Given the description of an element on the screen output the (x, y) to click on. 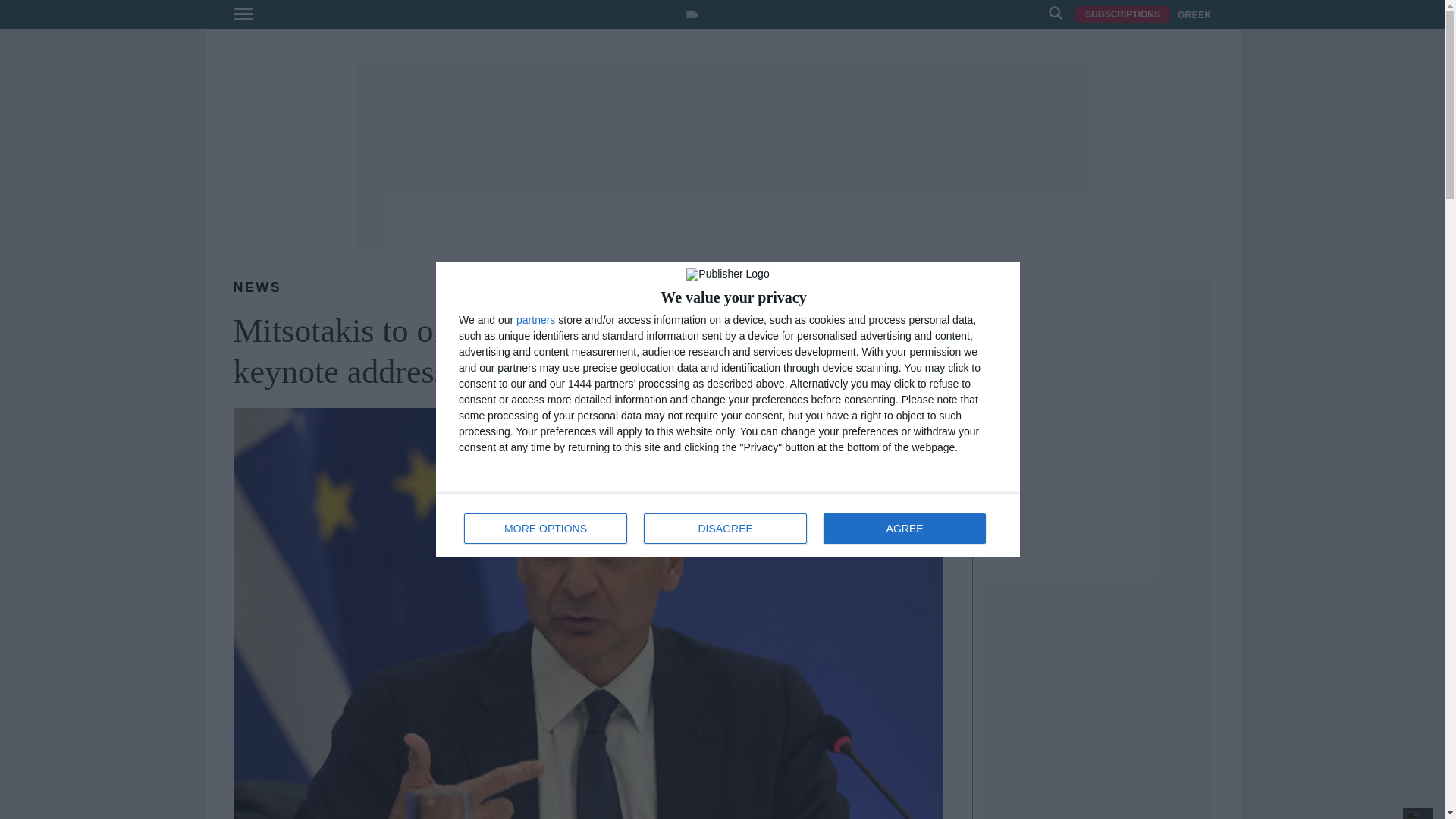
MORE OPTIONS (545, 527)
AGREE (904, 527)
DISAGREE (724, 527)
partners (727, 524)
